Given the description of an element on the screen output the (x, y) to click on. 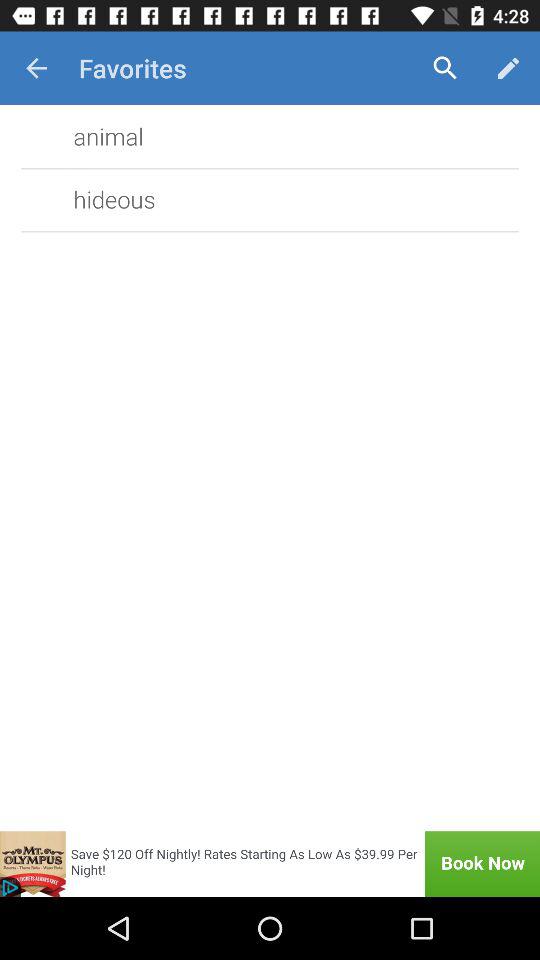
open advertisement (270, 864)
